Given the description of an element on the screen output the (x, y) to click on. 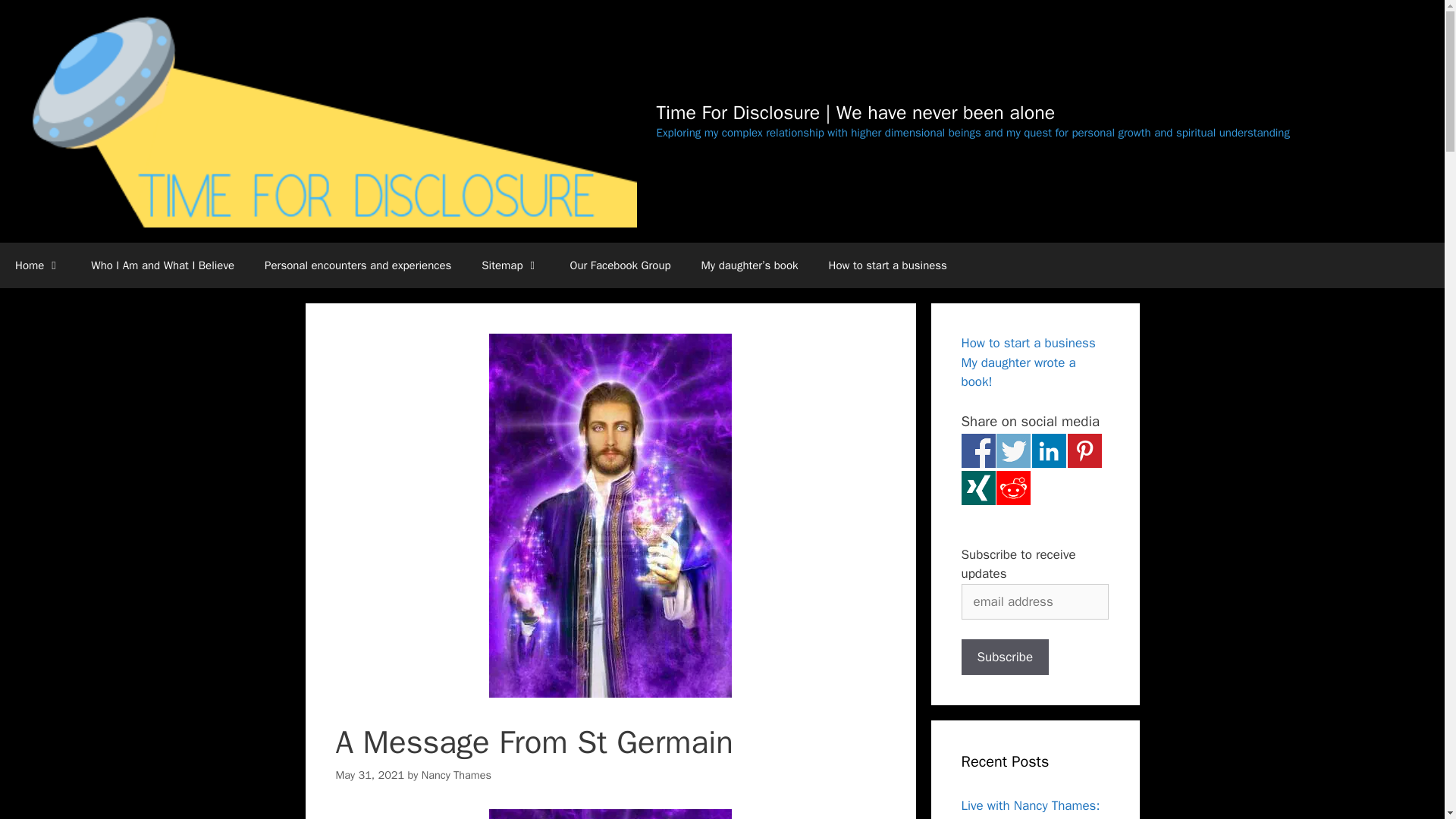
Our Facebook Group (619, 265)
Subscribe (1004, 657)
View all posts by Nancy Thames (457, 775)
Nancy Thames (457, 775)
Home (37, 265)
Who I Am and What I Believe (161, 265)
Sitemap (509, 265)
My daughter wrote a book! (1017, 372)
Personal encounters and experiences (356, 265)
How to start a business (1028, 342)
